Given the description of an element on the screen output the (x, y) to click on. 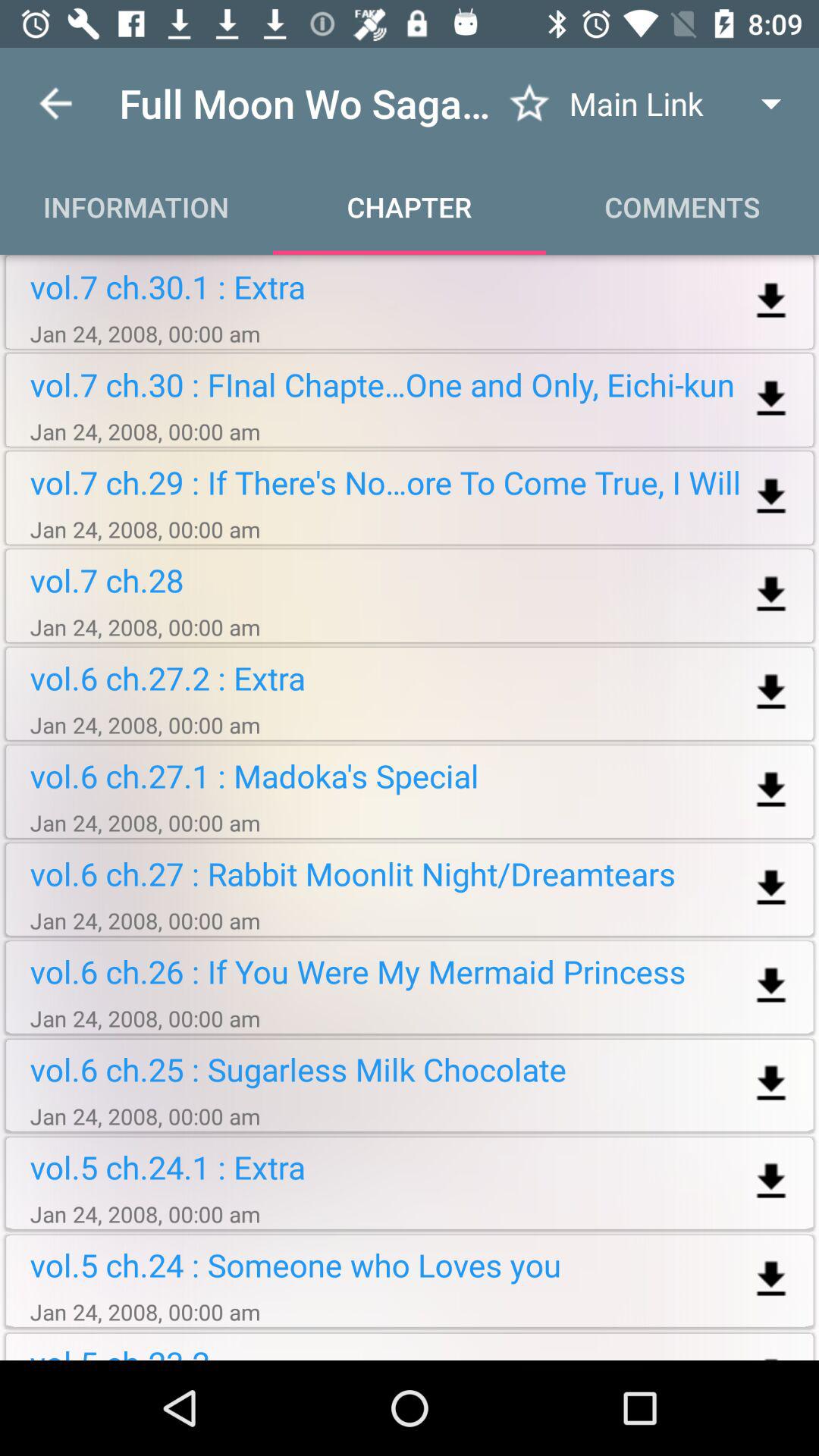
download chapter (771, 888)
